Given the description of an element on the screen output the (x, y) to click on. 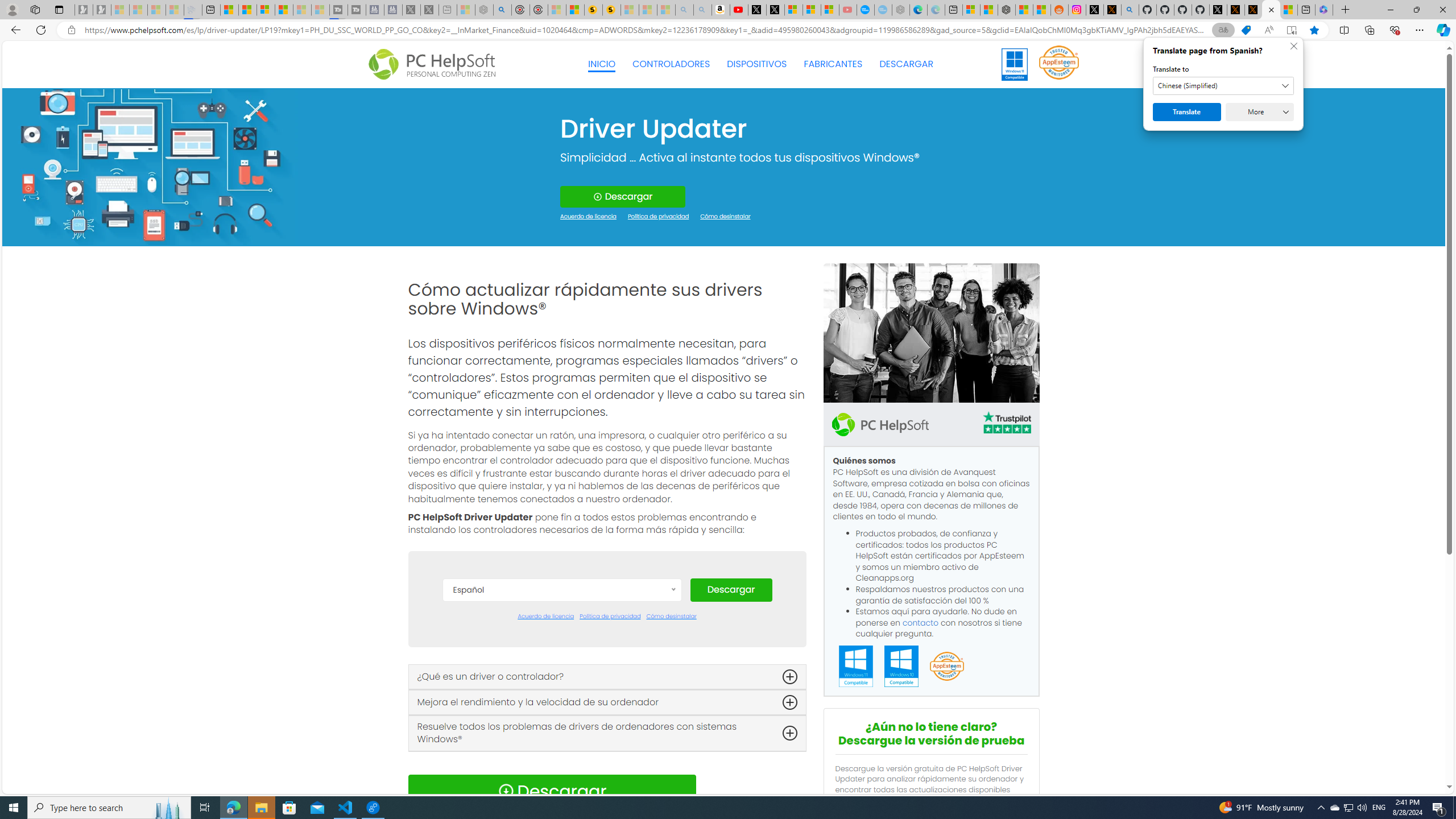
Deutsch (561, 678)
Italiano (561, 746)
Download Icon Descargar (551, 790)
Wildlife - MSN - Sleeping (466, 9)
Shanghai, China Weather trends | Microsoft Weather (1041, 9)
X - Sleeping (430, 9)
